Given the description of an element on the screen output the (x, y) to click on. 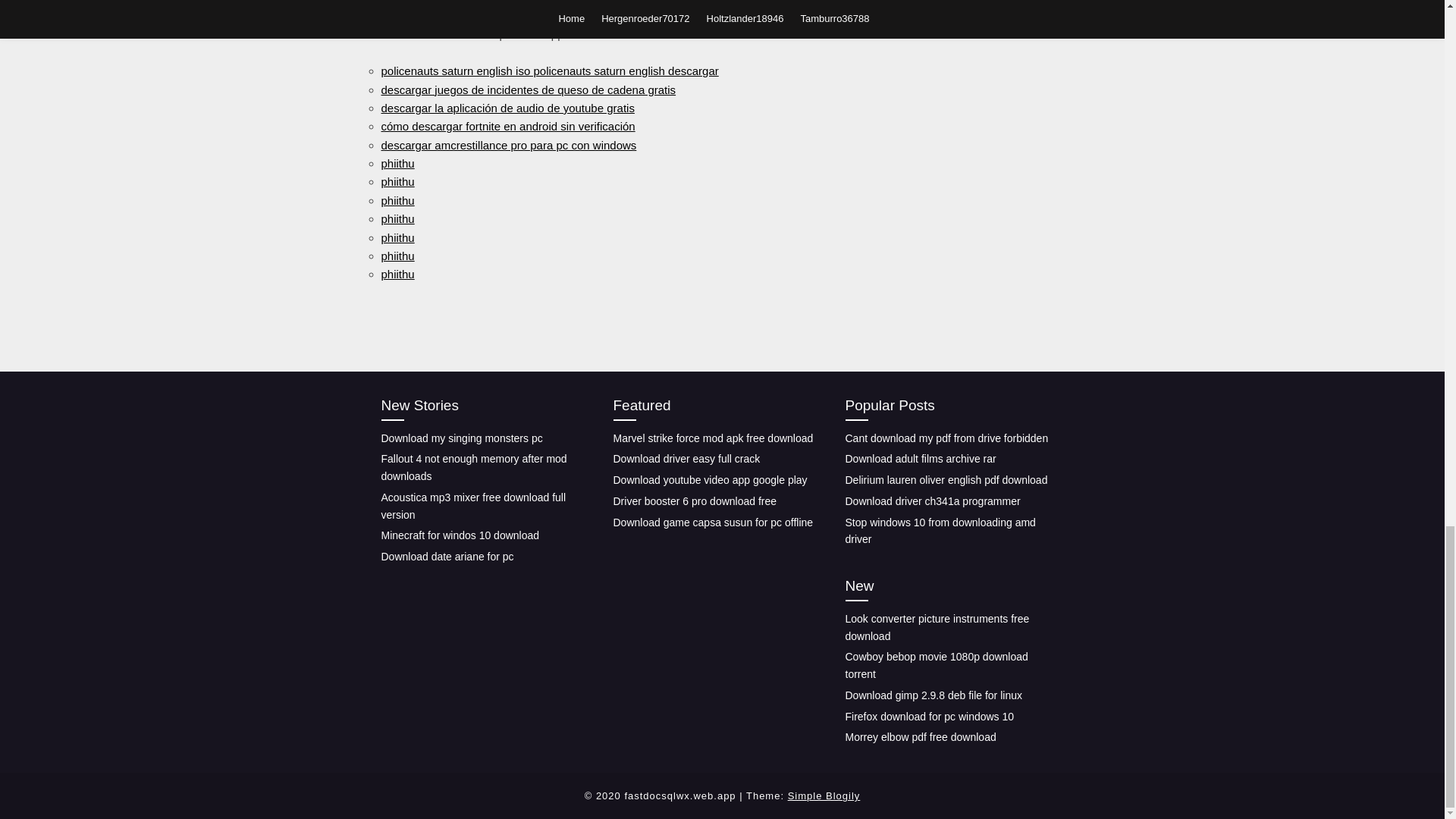
Cant download my pdf from drive forbidden (946, 438)
phiithu (396, 273)
Marvel strike force mod apk free download (712, 438)
Download driver easy full crack (686, 458)
Download youtube video app google play (709, 480)
phiithu (396, 218)
Stop windows 10 from downloading amd driver (939, 530)
phiithu (396, 200)
Fallout 4 not enough memory after mod downloads (473, 467)
phiithu (396, 255)
Download driver ch341a programmer (932, 500)
Minecraft for windos 10 download (459, 535)
Delirium lauren oliver english pdf download (945, 480)
phiithu (396, 163)
